Given the description of an element on the screen output the (x, y) to click on. 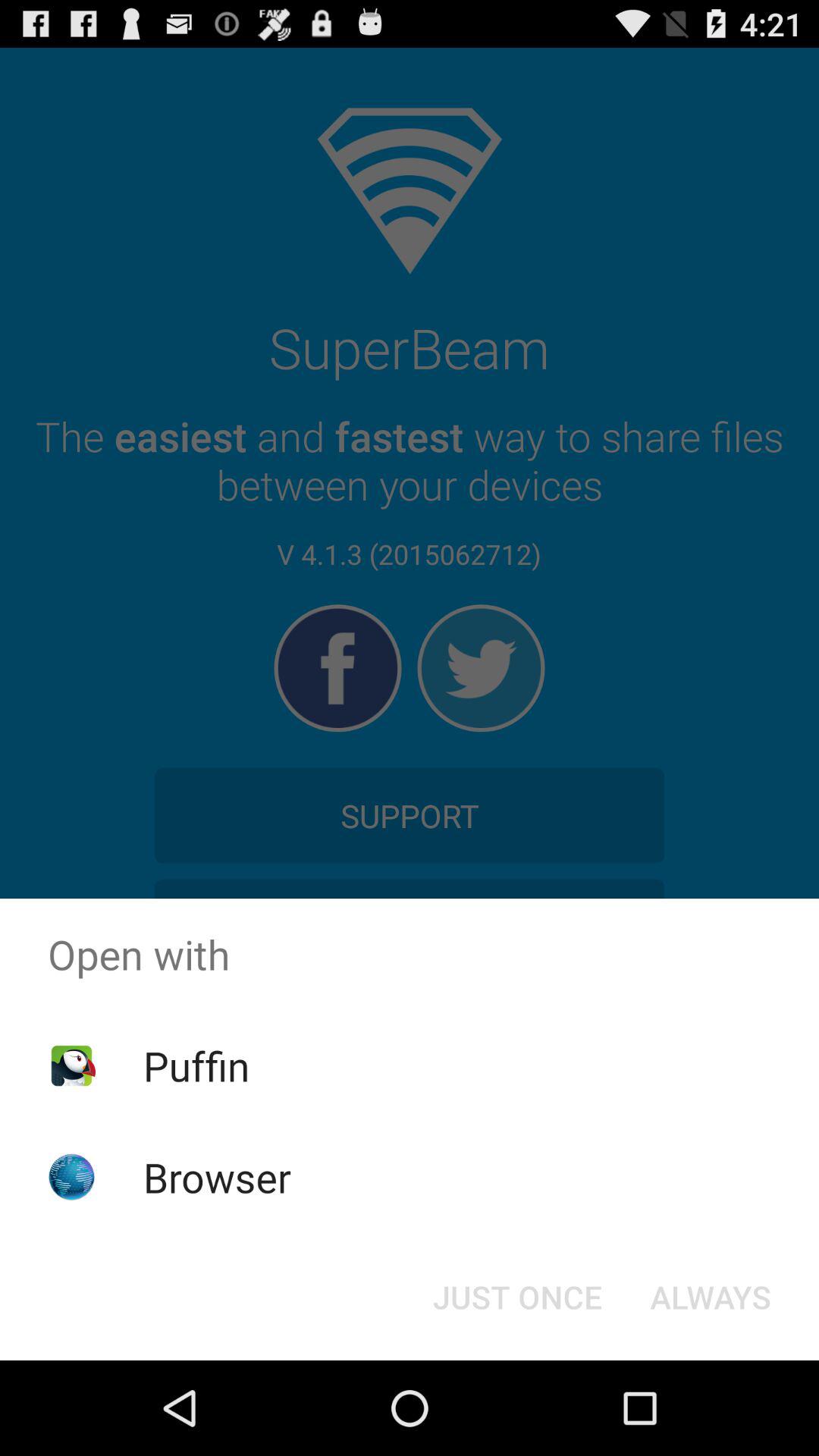
press the always (710, 1296)
